Given the description of an element on the screen output the (x, y) to click on. 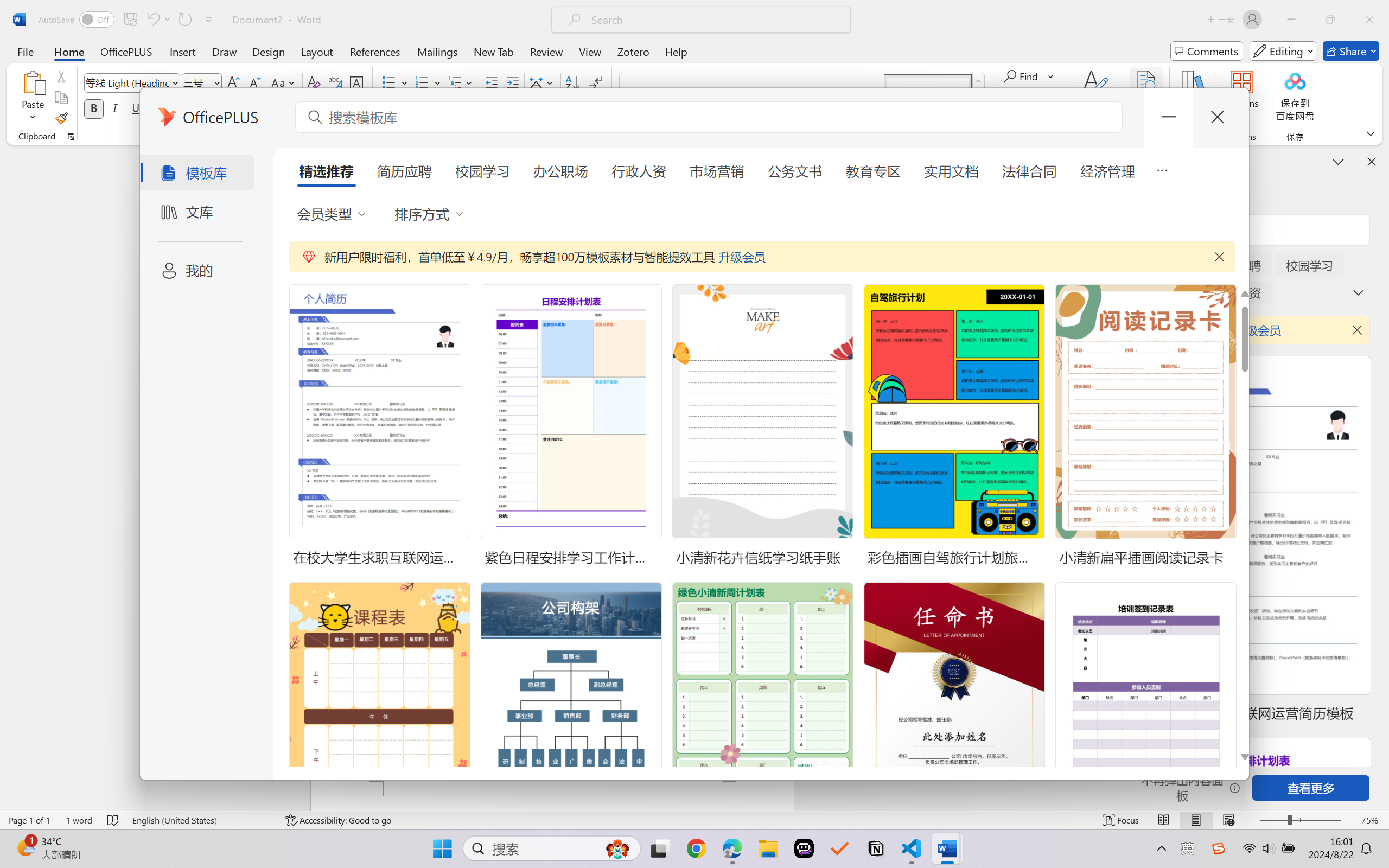
Mailings (437, 51)
Zoom Out (1273, 819)
AutoSave (76, 19)
Review (546, 51)
Restore Down (1330, 19)
Customize Quick Access Toolbar (208, 19)
AutomationID: BadgeAnchorLargeTicker (24, 847)
Design (268, 51)
Office Clipboard... (70, 136)
OfficePLUS (126, 51)
